Given the description of an element on the screen output the (x, y) to click on. 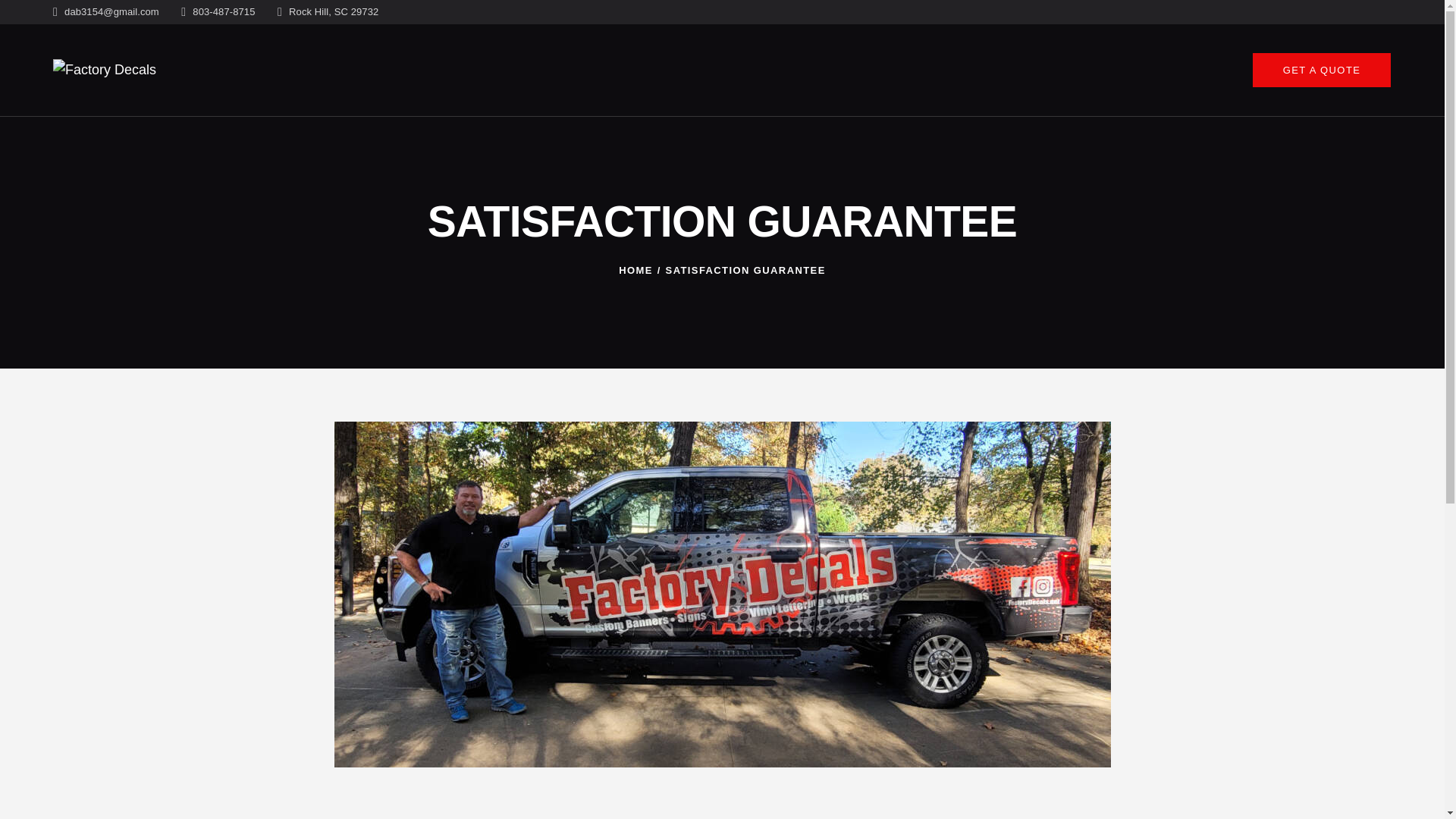
803-487-8715 (217, 11)
GET A QUOTE (1321, 69)
HOME (635, 270)
